Given the description of an element on the screen output the (x, y) to click on. 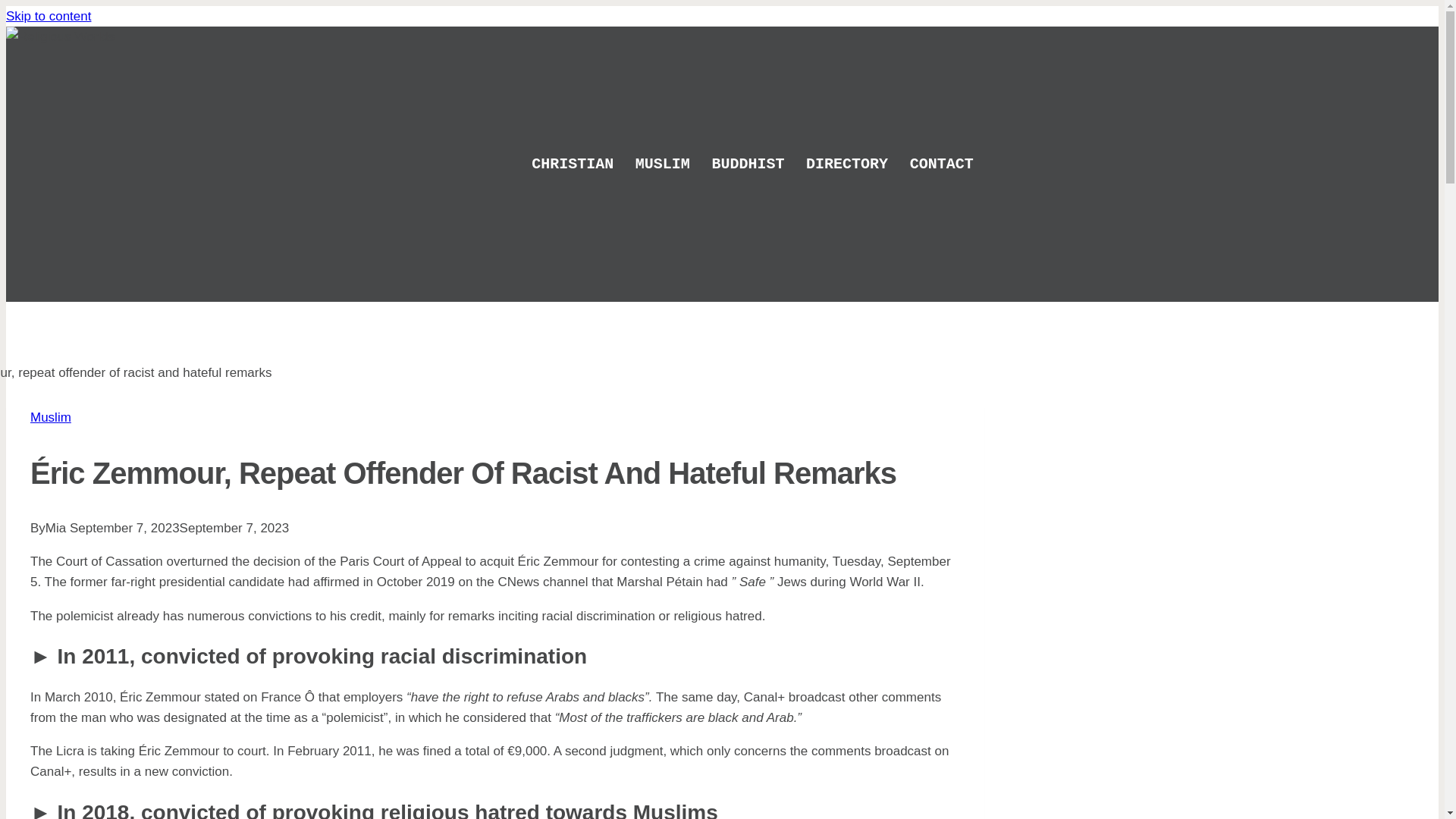
CHRISTIAN (583, 164)
Skip to content (47, 16)
CONTACT (952, 164)
Skip to content (47, 16)
BUDDHIST (758, 164)
DIRECTORY (857, 164)
Muslim (50, 417)
MUSLIM (673, 164)
